Given the description of an element on the screen output the (x, y) to click on. 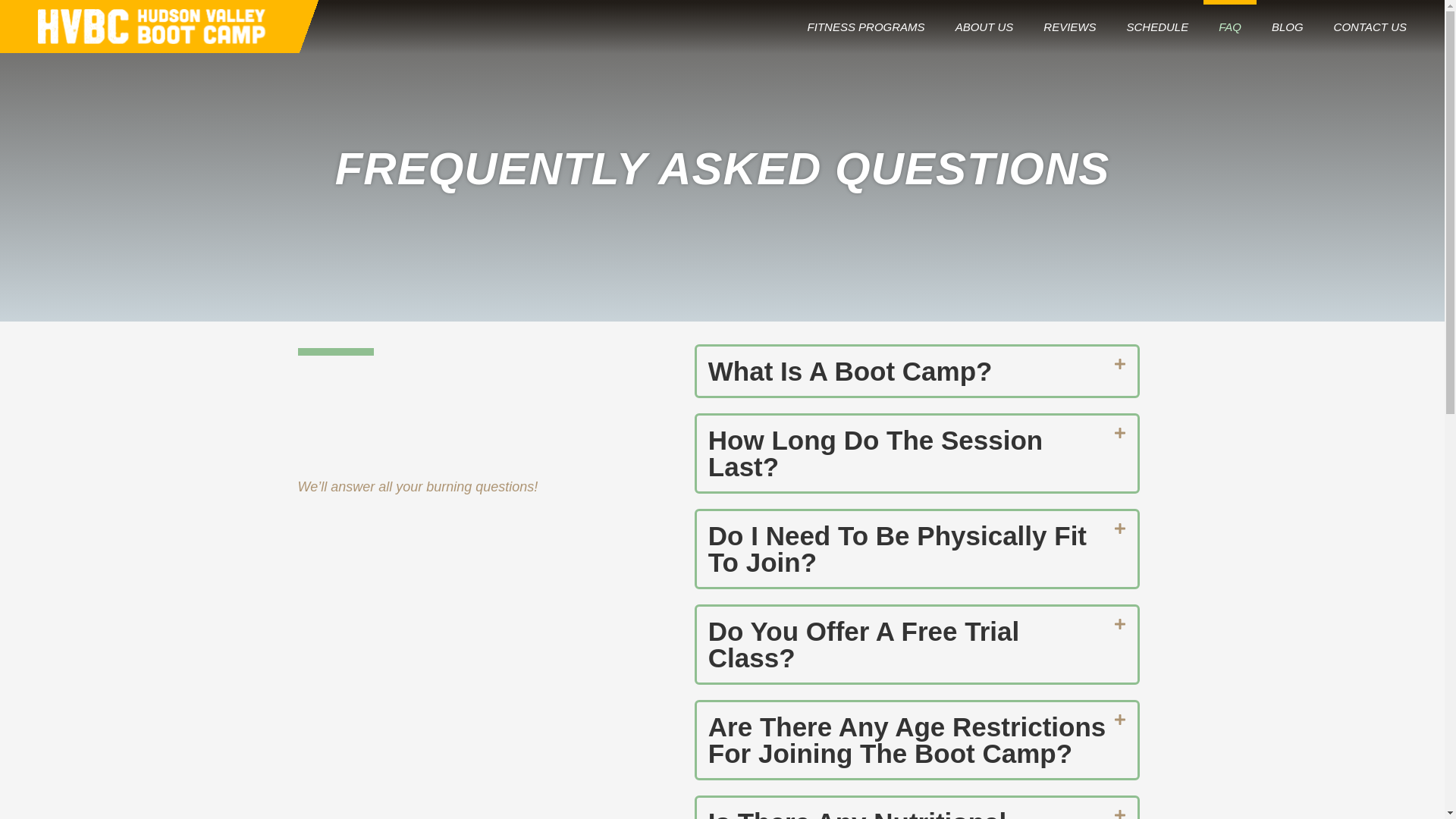
How Long Do The Session Last? (874, 453)
Is There Any Nutritional Support Provided? (856, 813)
SCHEDULE (1158, 27)
CONTACT US (1370, 27)
FAQ (1230, 27)
BLOG (1287, 27)
FITNESS PROGRAMS (866, 27)
REVIEWS (1068, 27)
Are There Any Age Restrictions For Joining The Boot Camp? (906, 739)
Do You Offer A Free Trial Class? (863, 644)
